Given the description of an element on the screen output the (x, y) to click on. 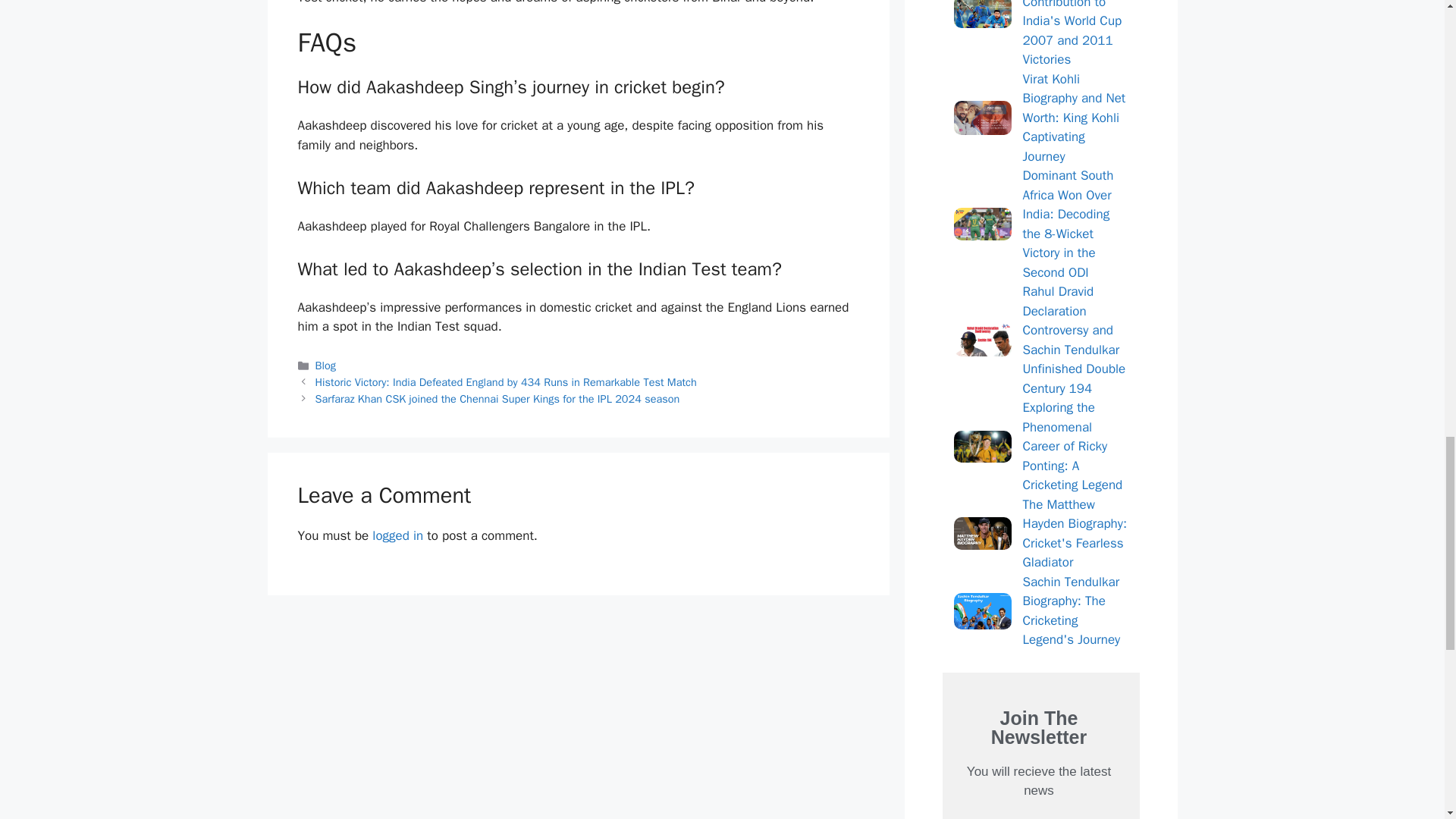
The Matthew Hayden Biography: Cricket's Fearless Gladiator (1040, 533)
logged in (397, 535)
Sachin Tendulkar Biography: The Cricketing Legend's Journey (1040, 611)
Blog (325, 365)
